Given the description of an element on the screen output the (x, y) to click on. 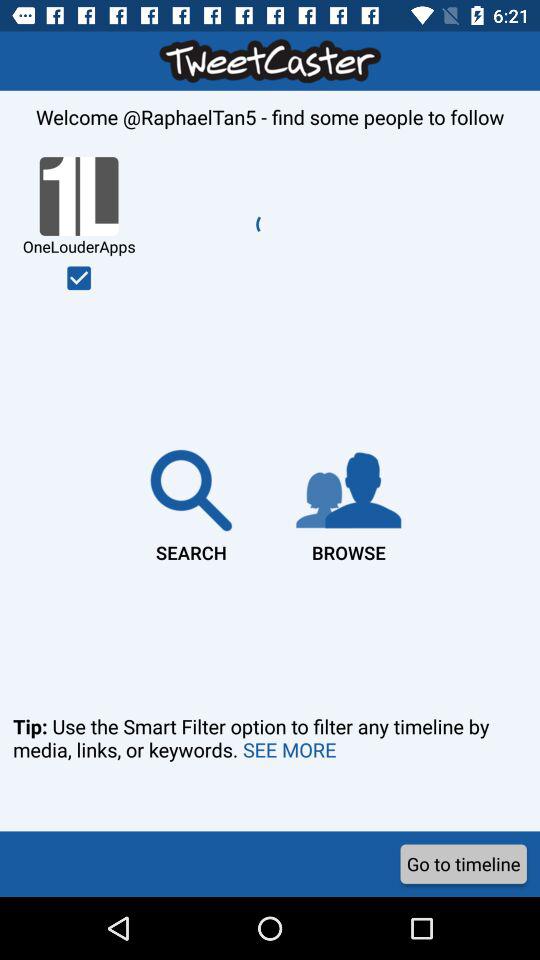
swipe to browse icon (348, 502)
